Given the description of an element on the screen output the (x, y) to click on. 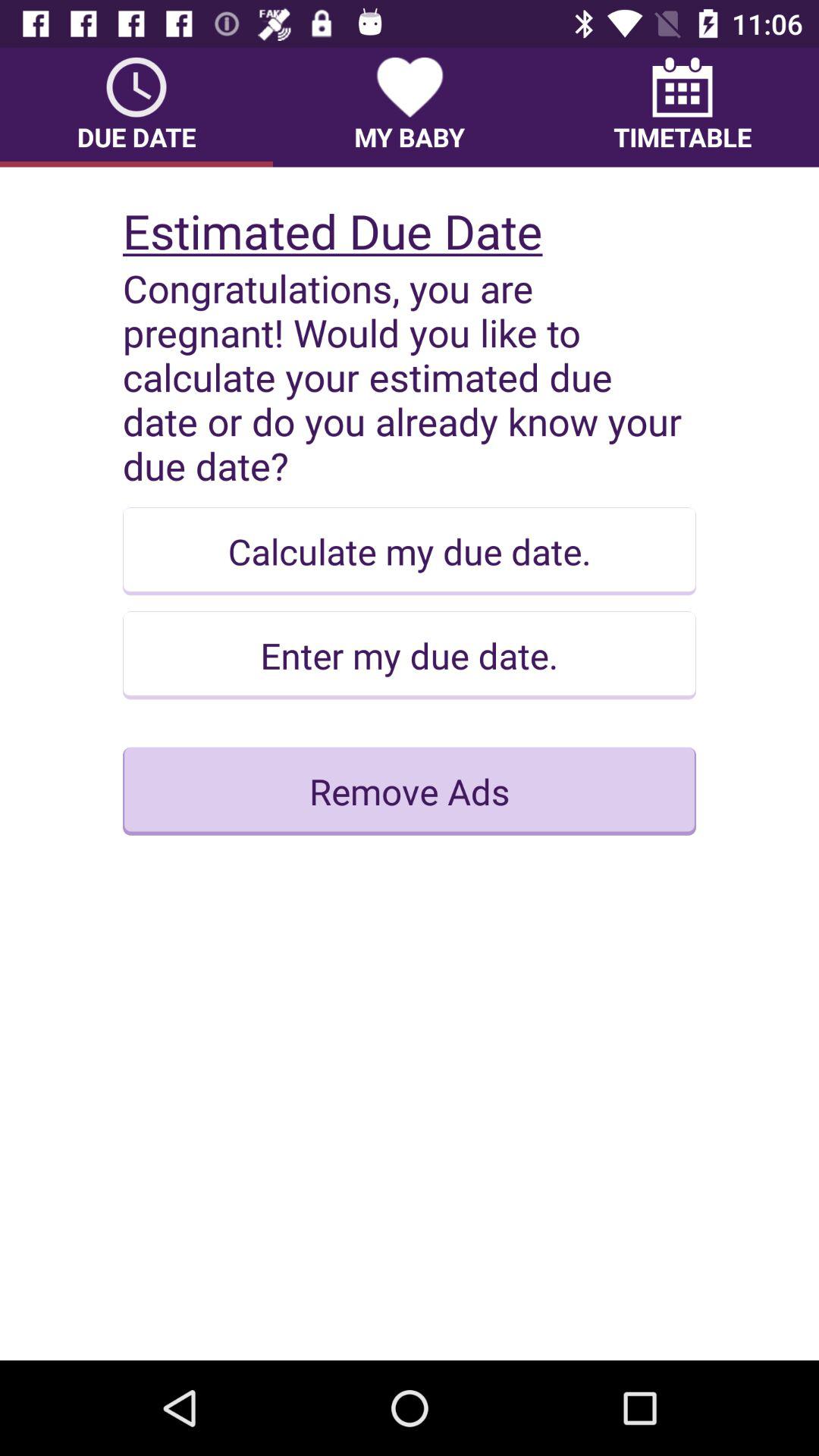
click the timetable icon (682, 107)
